Given the description of an element on the screen output the (x, y) to click on. 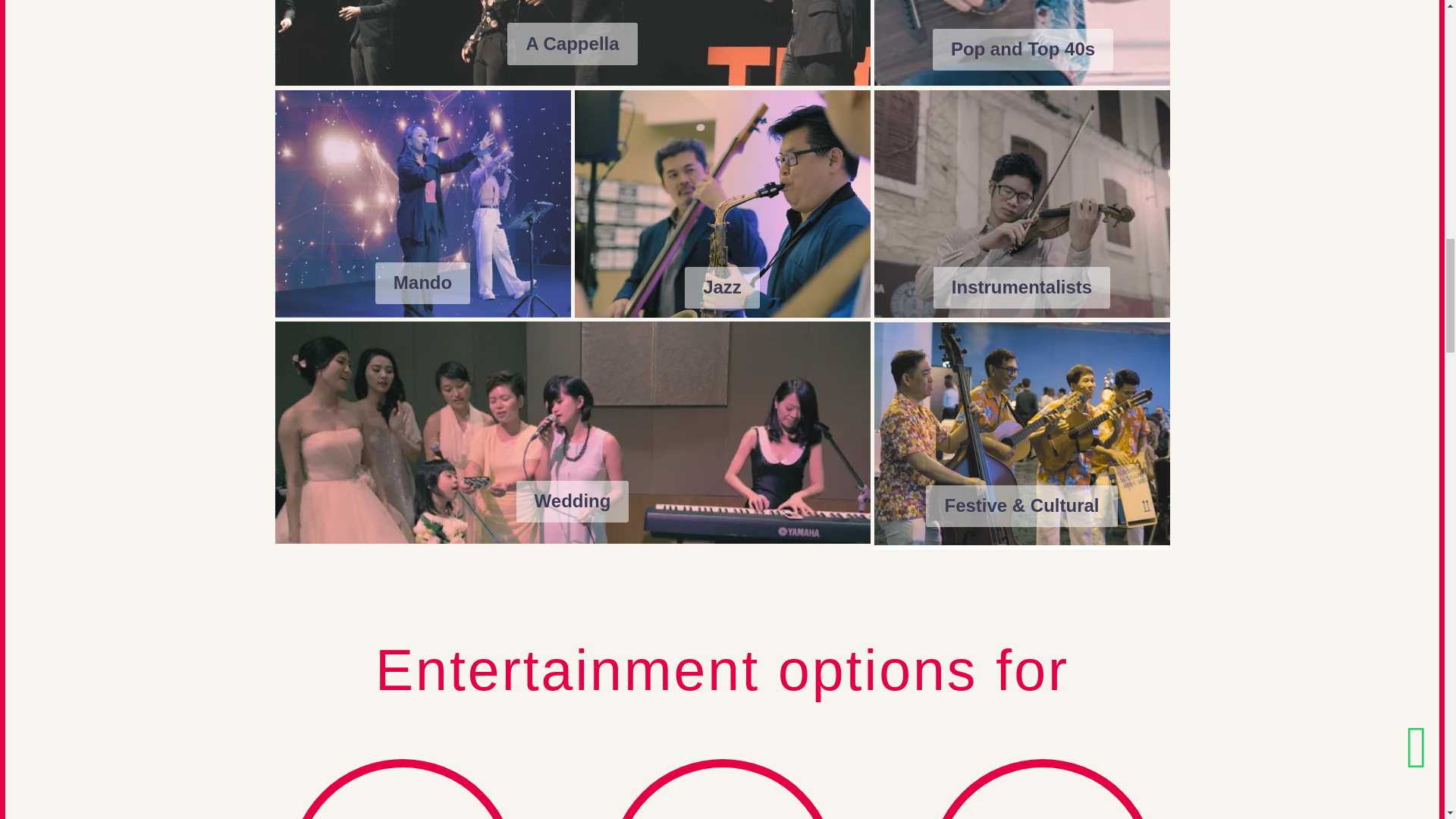
Wedding (572, 501)
Jazz (722, 287)
Pop and Top 40s (1023, 49)
CORPORATE EVENTS (401, 789)
Instrumentalists (1021, 287)
Mando (422, 282)
A Cappella (571, 43)
